Given the description of an element on the screen output the (x, y) to click on. 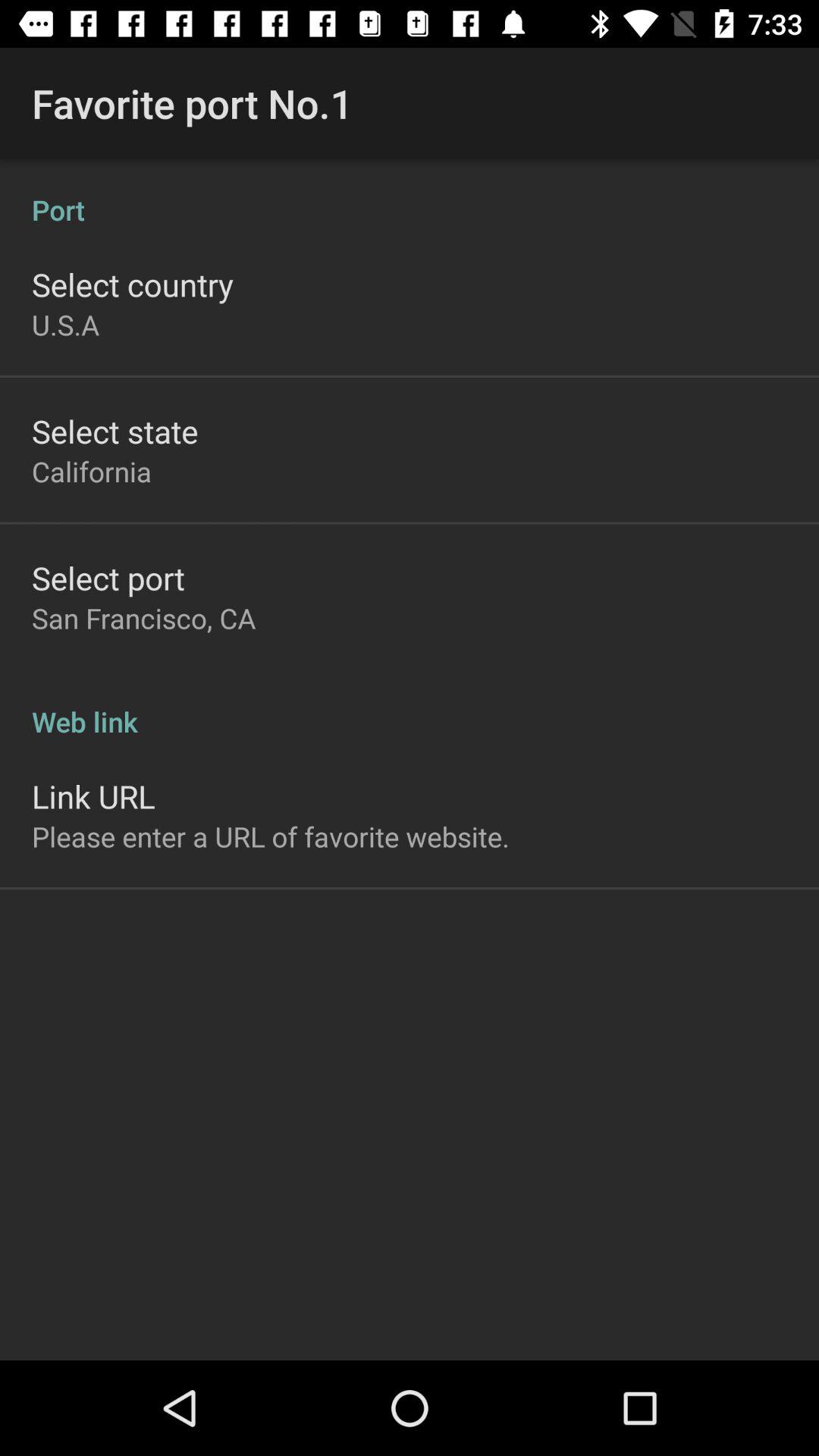
swipe until the please enter a app (270, 836)
